Given the description of an element on the screen output the (x, y) to click on. 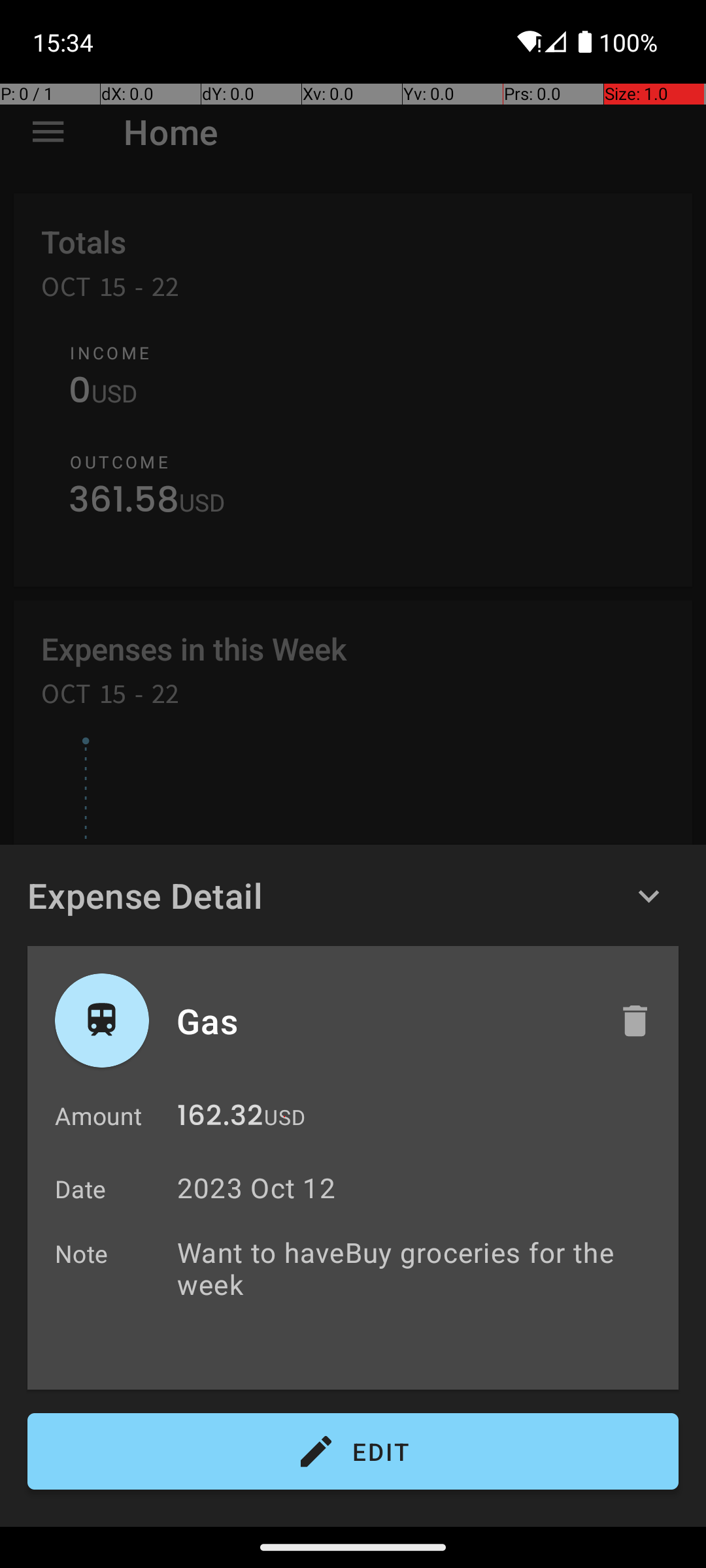
162.32 Element type: android.widget.TextView (219, 1117)
Want to haveBuy groceries for the week
 Element type: android.widget.TextView (420, 1283)
